Given the description of an element on the screen output the (x, y) to click on. 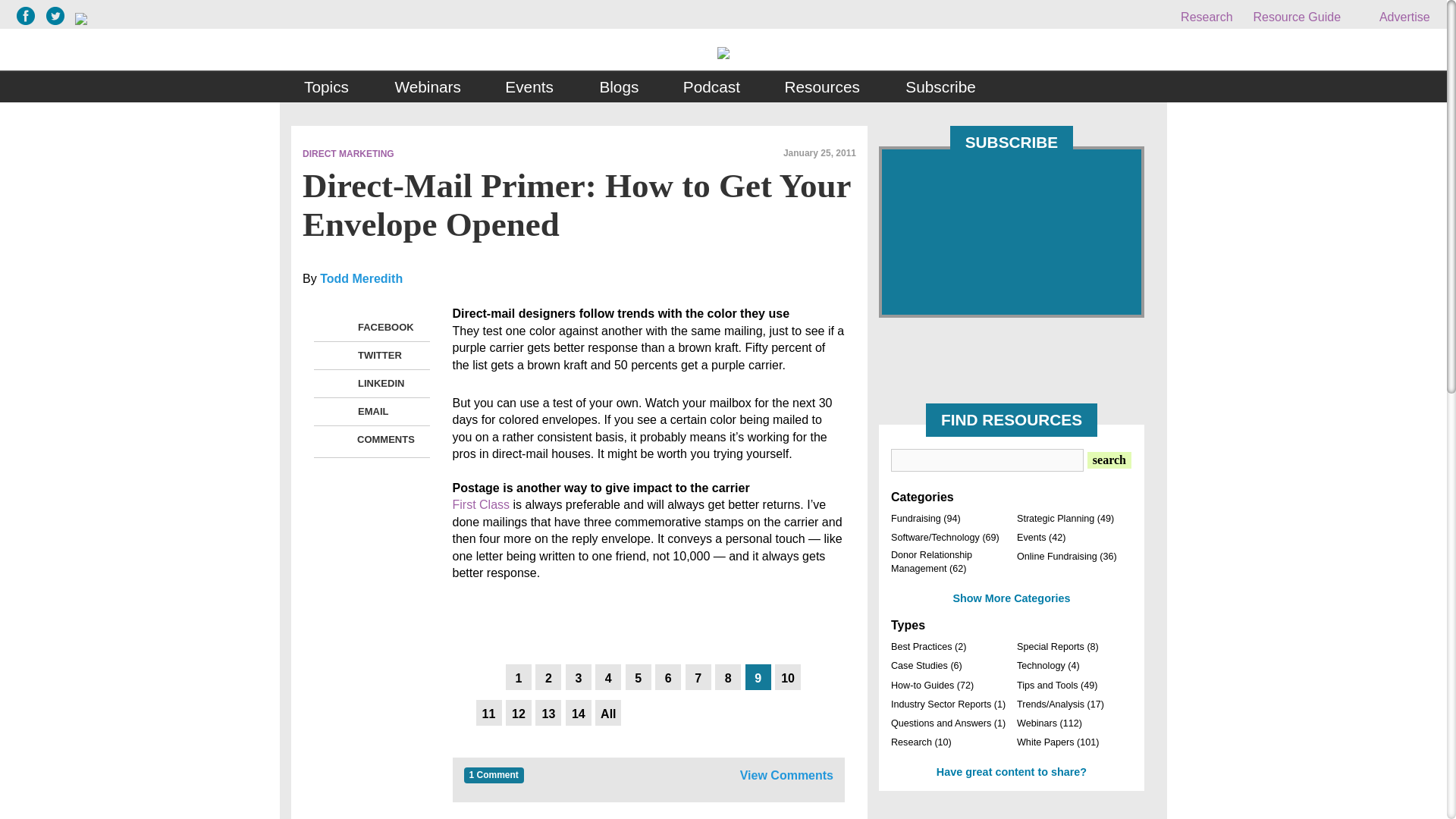
Resource Guide (1296, 16)
Twitter (339, 355)
LinkedIn (339, 383)
Email Link (339, 411)
search (1109, 460)
Topics (327, 87)
Facebook (339, 327)
Webinars (426, 87)
Advertise (1395, 16)
Events (530, 87)
